Given the description of an element on the screen output the (x, y) to click on. 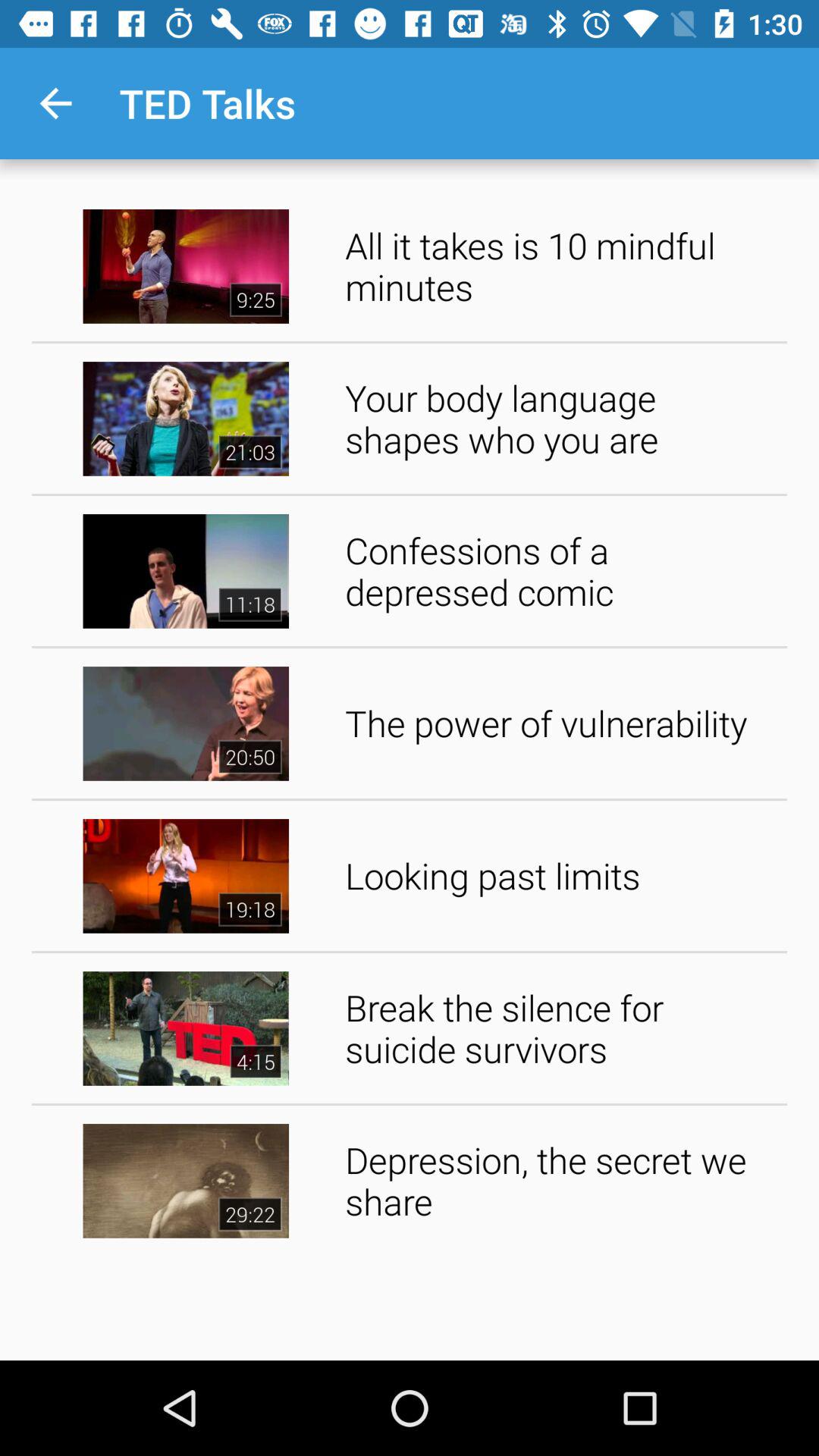
swipe to confessions of a app (560, 570)
